Given the description of an element on the screen output the (x, y) to click on. 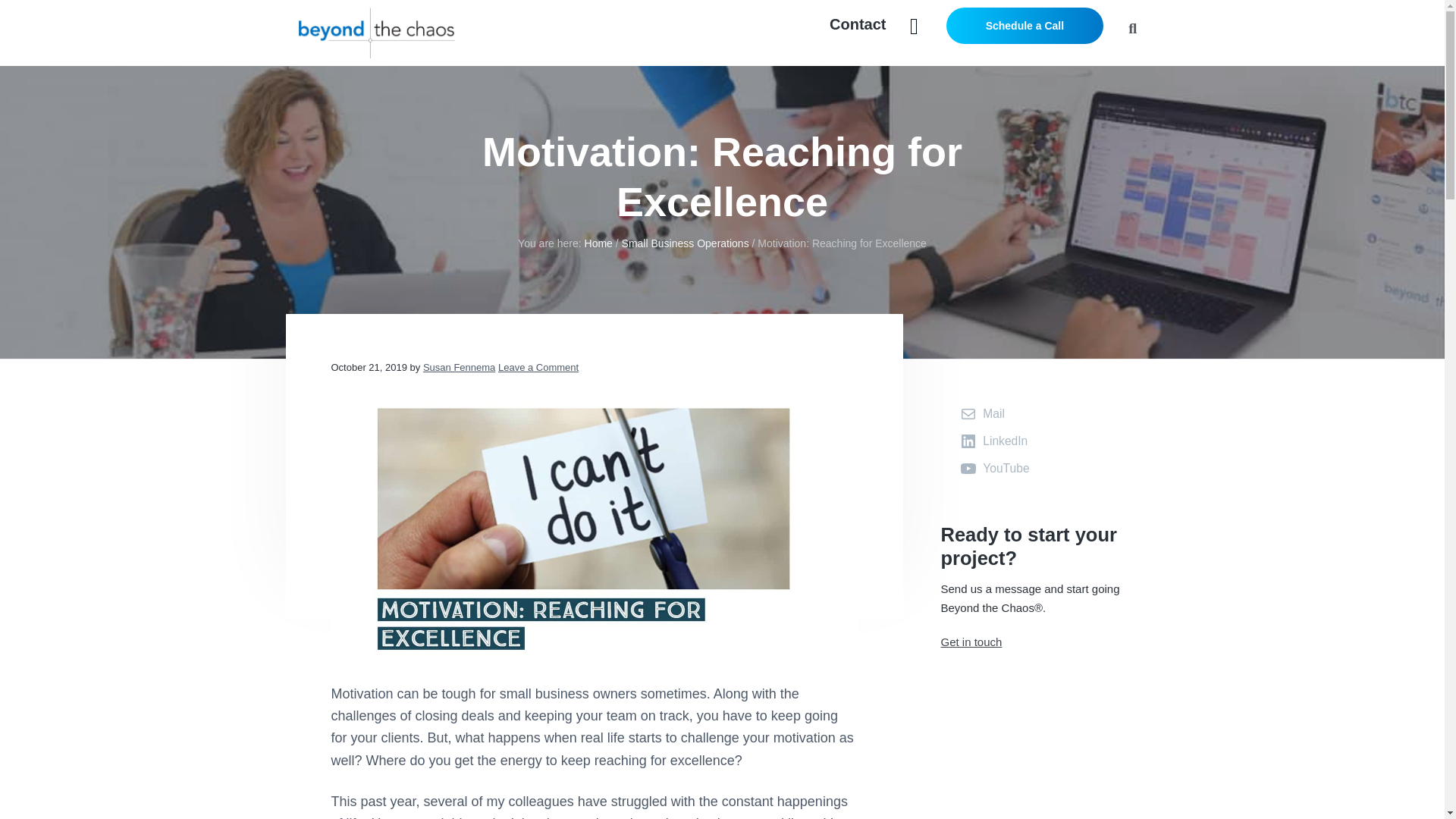
Mail (984, 413)
Small Business Operations (685, 243)
Susan Fennema (459, 367)
Schedule a Call (1024, 25)
Leave a Comment (537, 367)
Get in touch (970, 641)
YouTube (996, 468)
LinkedIn (995, 441)
Home (598, 243)
Contact (857, 24)
